Given the description of an element on the screen output the (x, y) to click on. 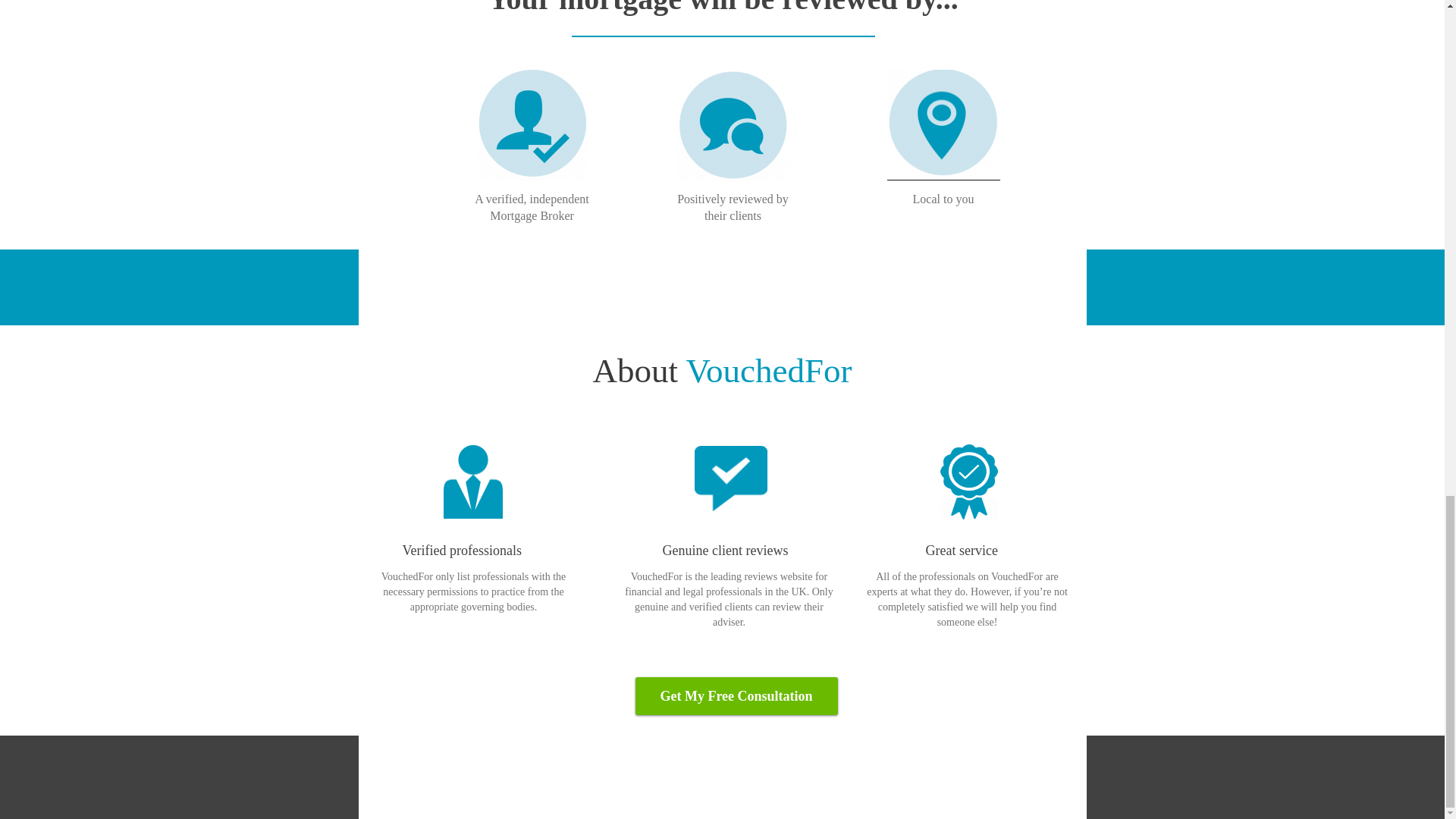
terms and conditions. (940, 779)
Get My Free Consultation (736, 711)
0330 038 9260 (862, 286)
Get My Free Consultation (736, 711)
